Given the description of an element on the screen output the (x, y) to click on. 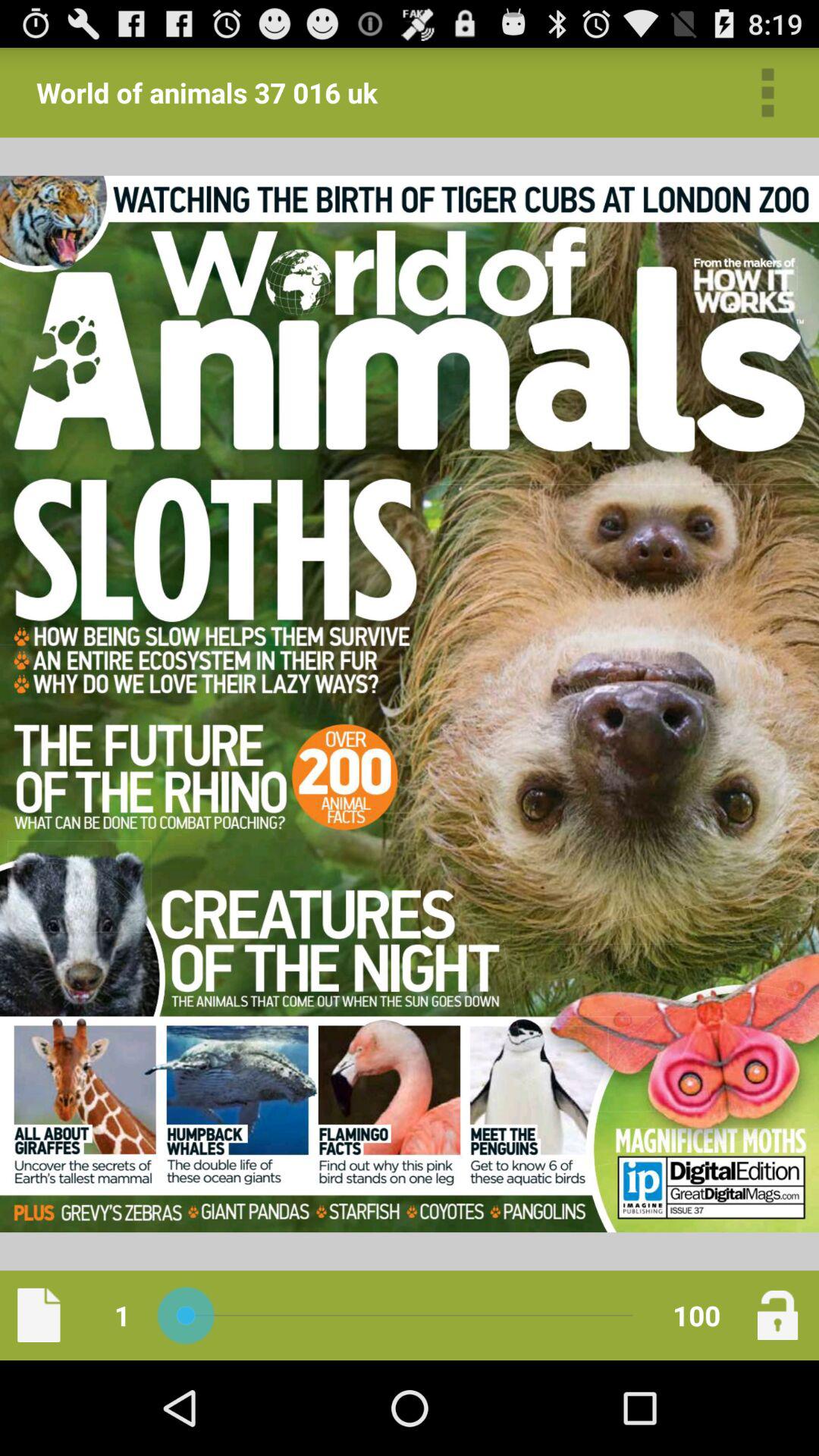
new page (38, 1315)
